Given the description of an element on the screen output the (x, y) to click on. 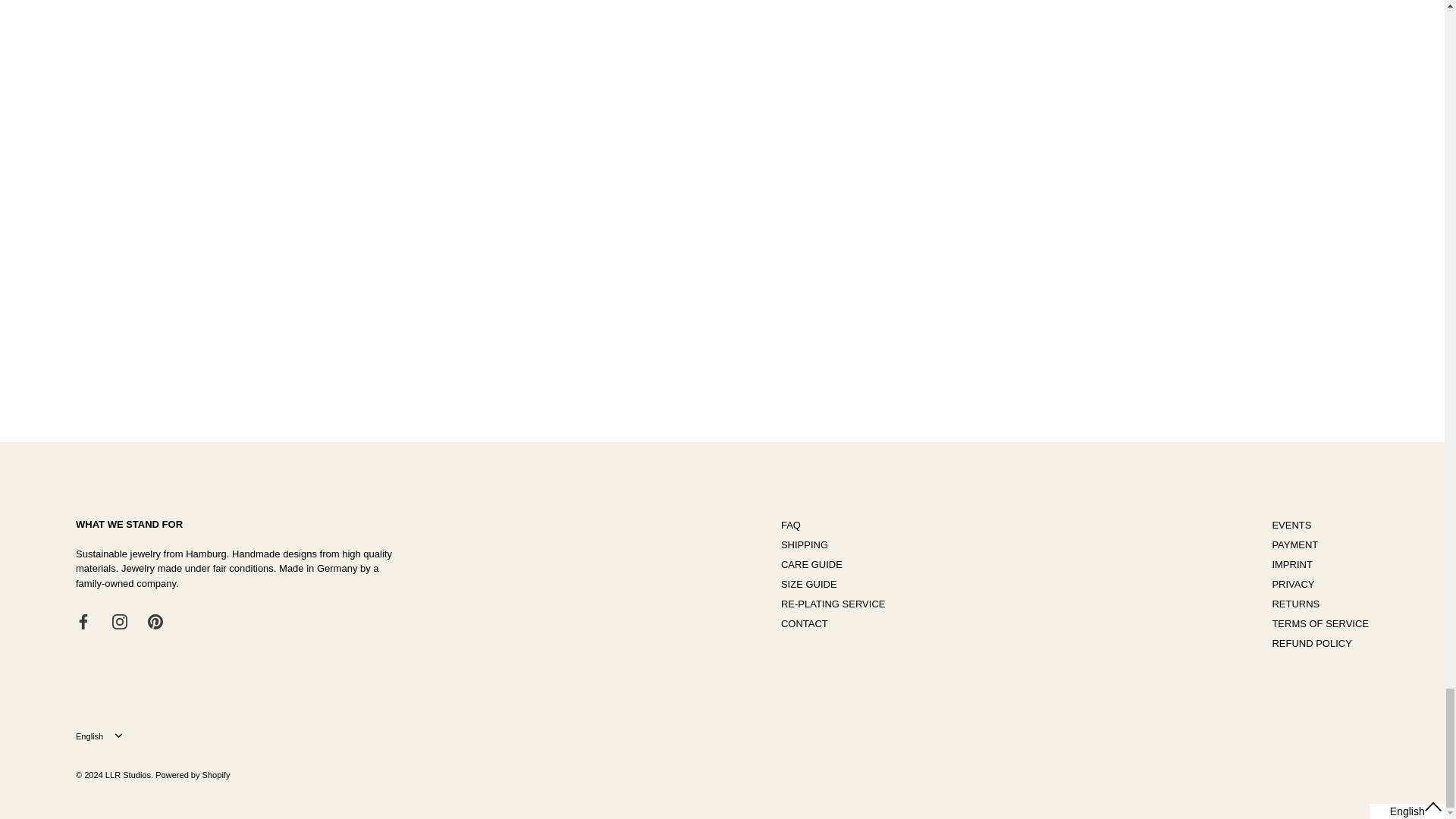
Pinterest (155, 621)
Instagram (120, 621)
